Given the description of an element on the screen output the (x, y) to click on. 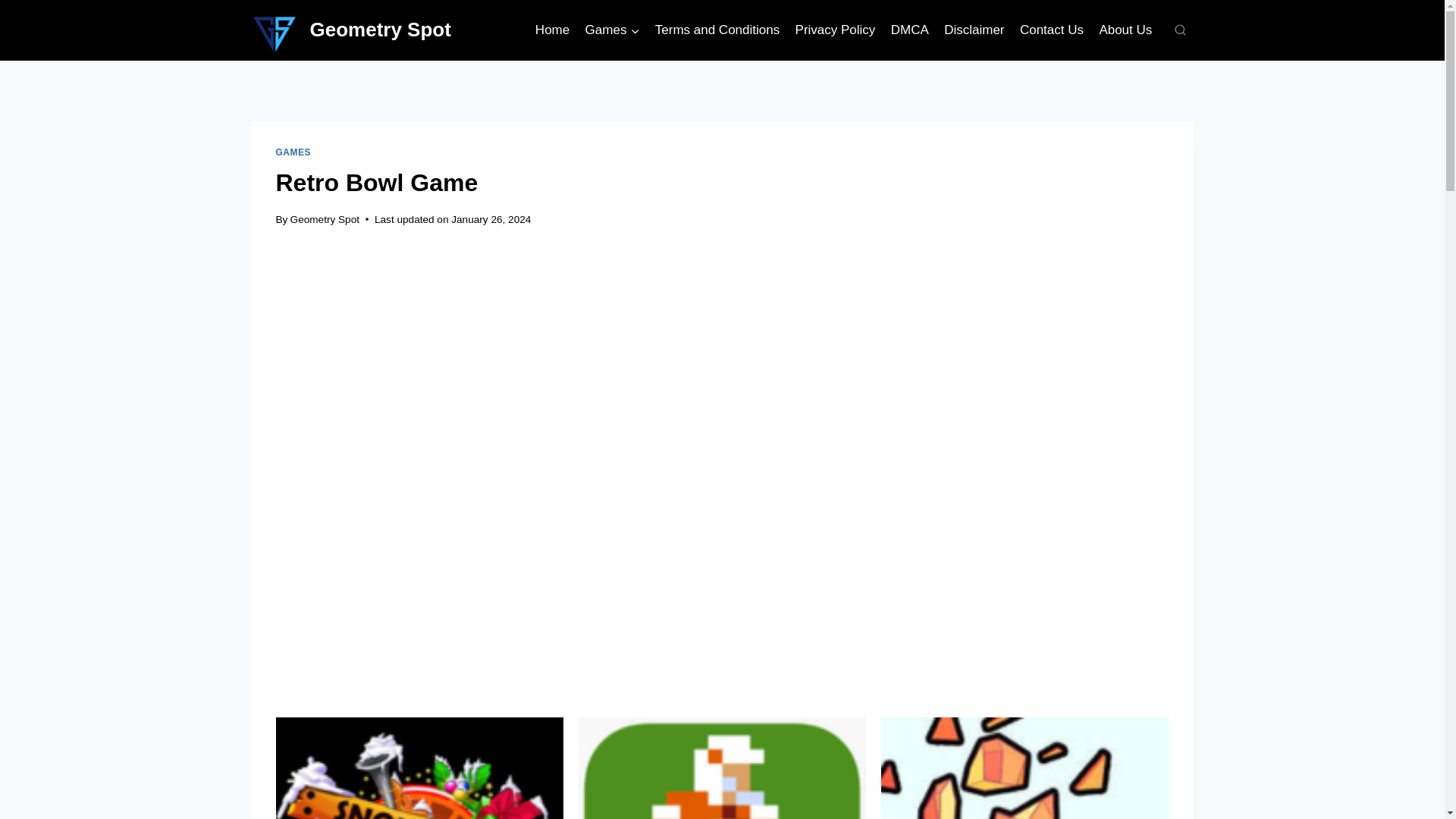
About Us (1124, 30)
GAMES (293, 152)
Geometry Spot (351, 30)
Disclaimer (973, 30)
Contact Us (1050, 30)
Privacy Policy (834, 30)
Games (611, 30)
Terms and Conditions (717, 30)
Geometry Spot (324, 219)
